Given the description of an element on the screen output the (x, y) to click on. 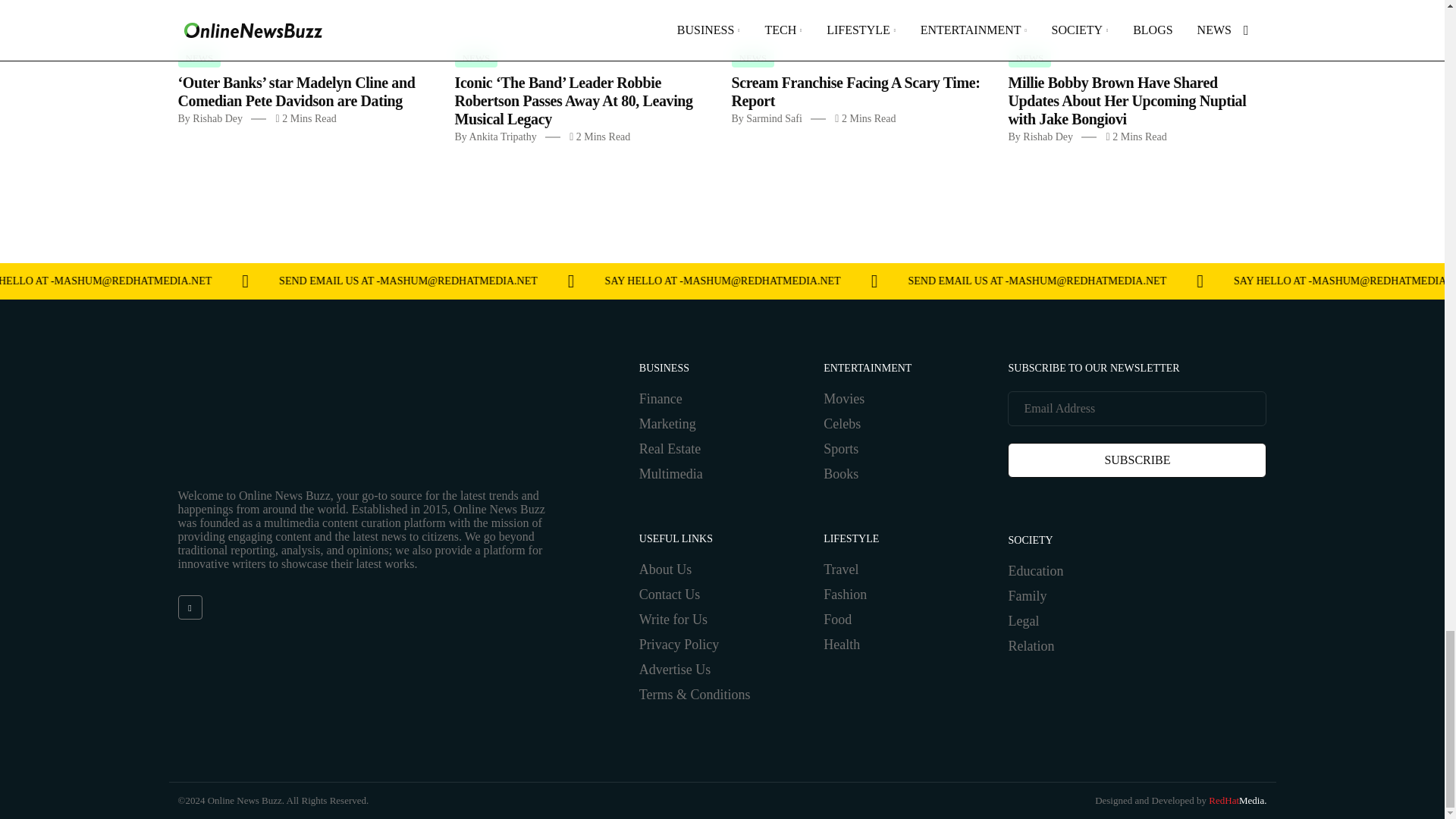
Subscribe (1136, 460)
News (752, 58)
News (199, 58)
News (1030, 58)
News (475, 58)
